Given the description of an element on the screen output the (x, y) to click on. 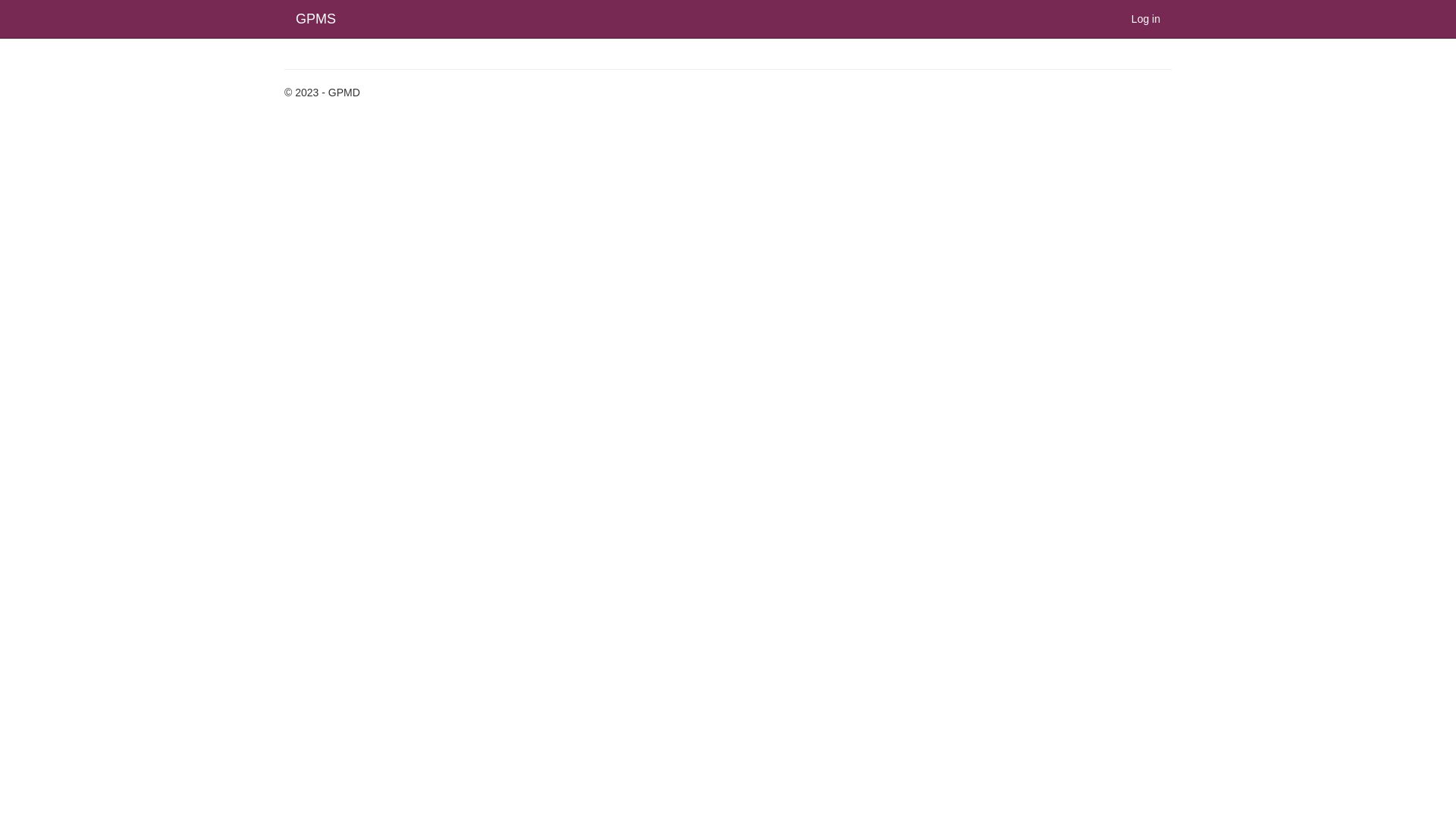
Log in Element type: text (1145, 18)
GPMS Element type: text (315, 18)
